Given the description of an element on the screen output the (x, y) to click on. 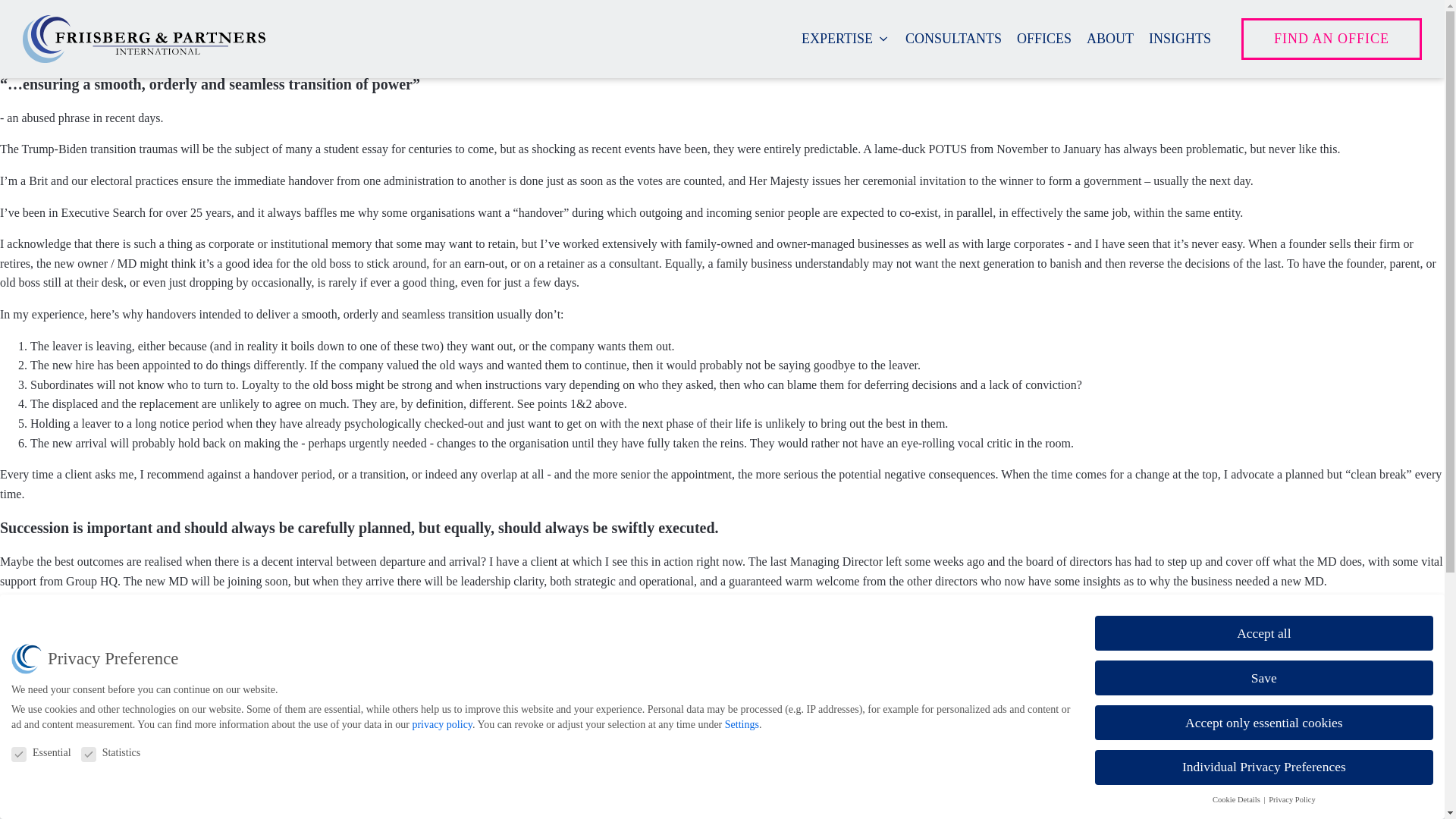
Accept only essential cookies (1263, 722)
Save (1263, 677)
Accept all (1263, 632)
OFFICES (1043, 38)
Cookie Details (1237, 799)
FIND AN OFFICE (1331, 38)
EXPERTISE (845, 38)
ABOUT (1110, 38)
CONSULTANTS (953, 38)
Individual Privacy Preferences (1263, 767)
Settings (741, 724)
privacy policy (441, 724)
INSIGHTS (1179, 38)
Privacy Policy (1292, 799)
